Given the description of an element on the screen output the (x, y) to click on. 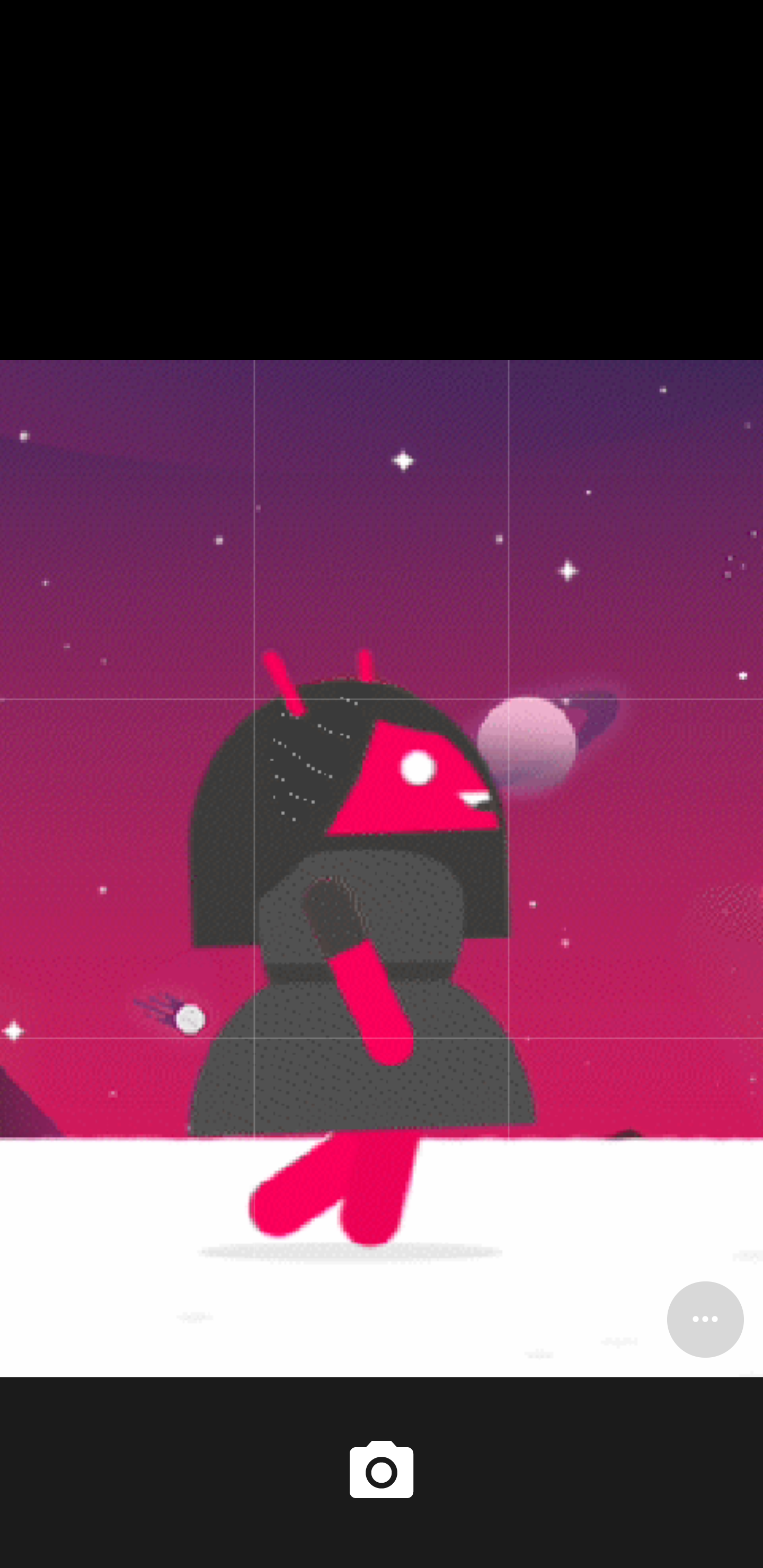
Options (704, 1319)
Shutter (381, 1472)
